Given the description of an element on the screen output the (x, y) to click on. 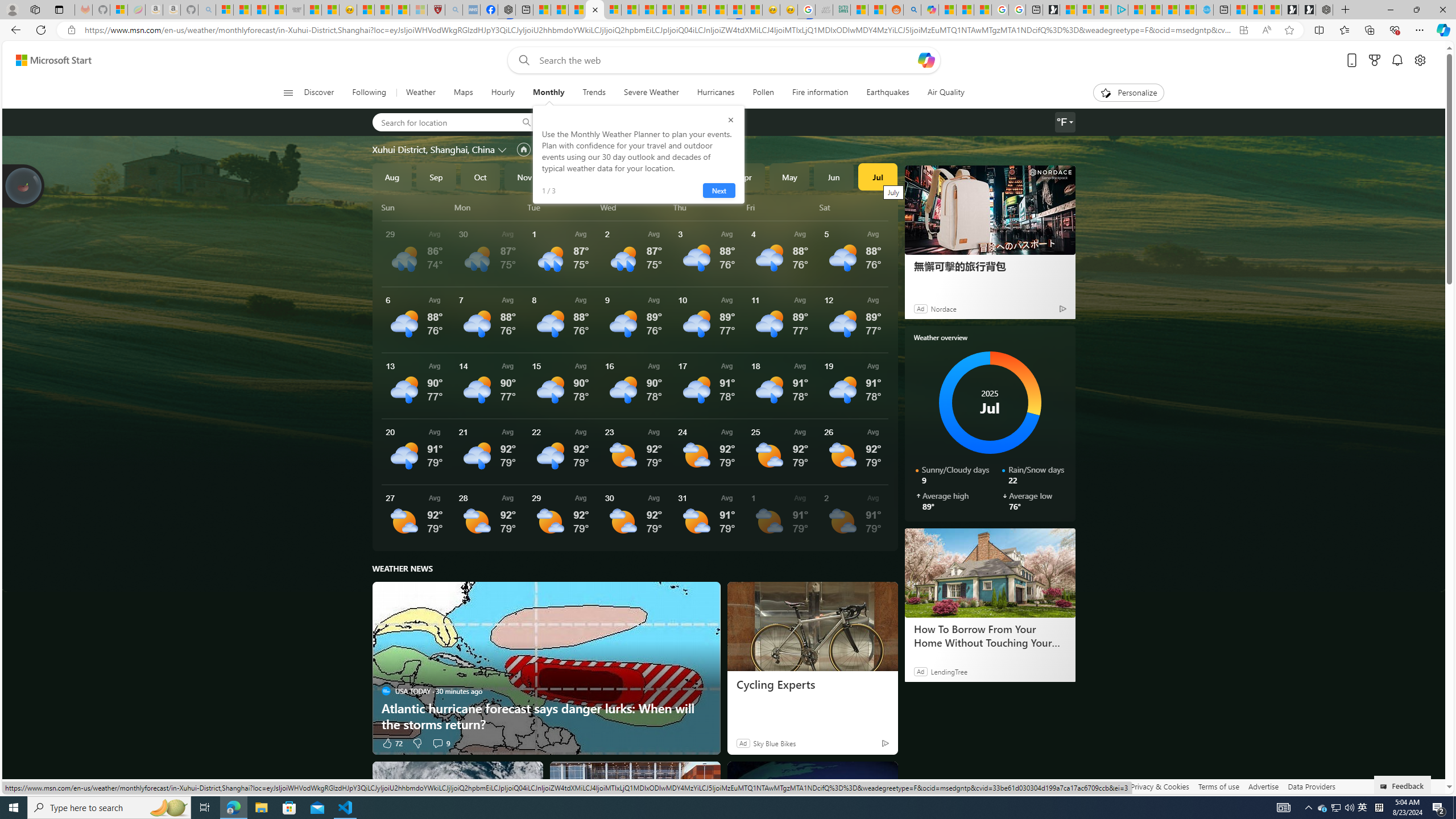
Open Copilot (925, 59)
Science - MSN (400, 9)
NCL Adult Asthma Inhaler Choice Guideline - Sleeping (470, 9)
Hourly (502, 92)
Sep (435, 176)
72 Like (392, 742)
Aug (391, 176)
Change location (503, 149)
Following (370, 92)
Privacy & Cookies (1160, 785)
Oct (480, 176)
